Given the description of an element on the screen output the (x, y) to click on. 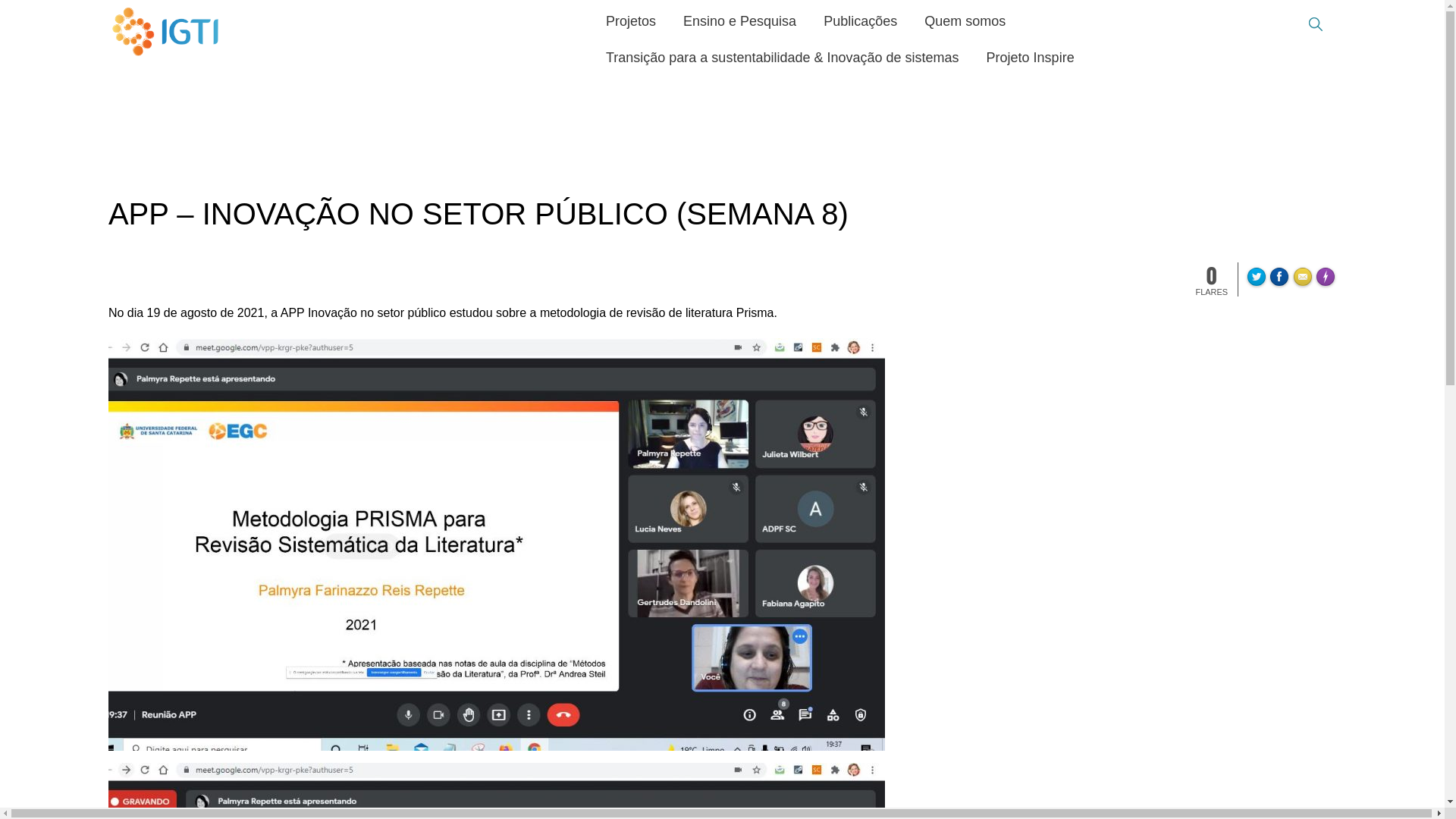
Projetos Element type: text (630, 22)
Projeto Inspire Element type: text (1030, 58)
IGTI Element type: hover (165, 31)
Quem somos Element type: text (964, 22)
search Element type: text (1314, 24)
Ensino e Pesquisa Element type: text (739, 22)
